Given the description of an element on the screen output the (x, y) to click on. 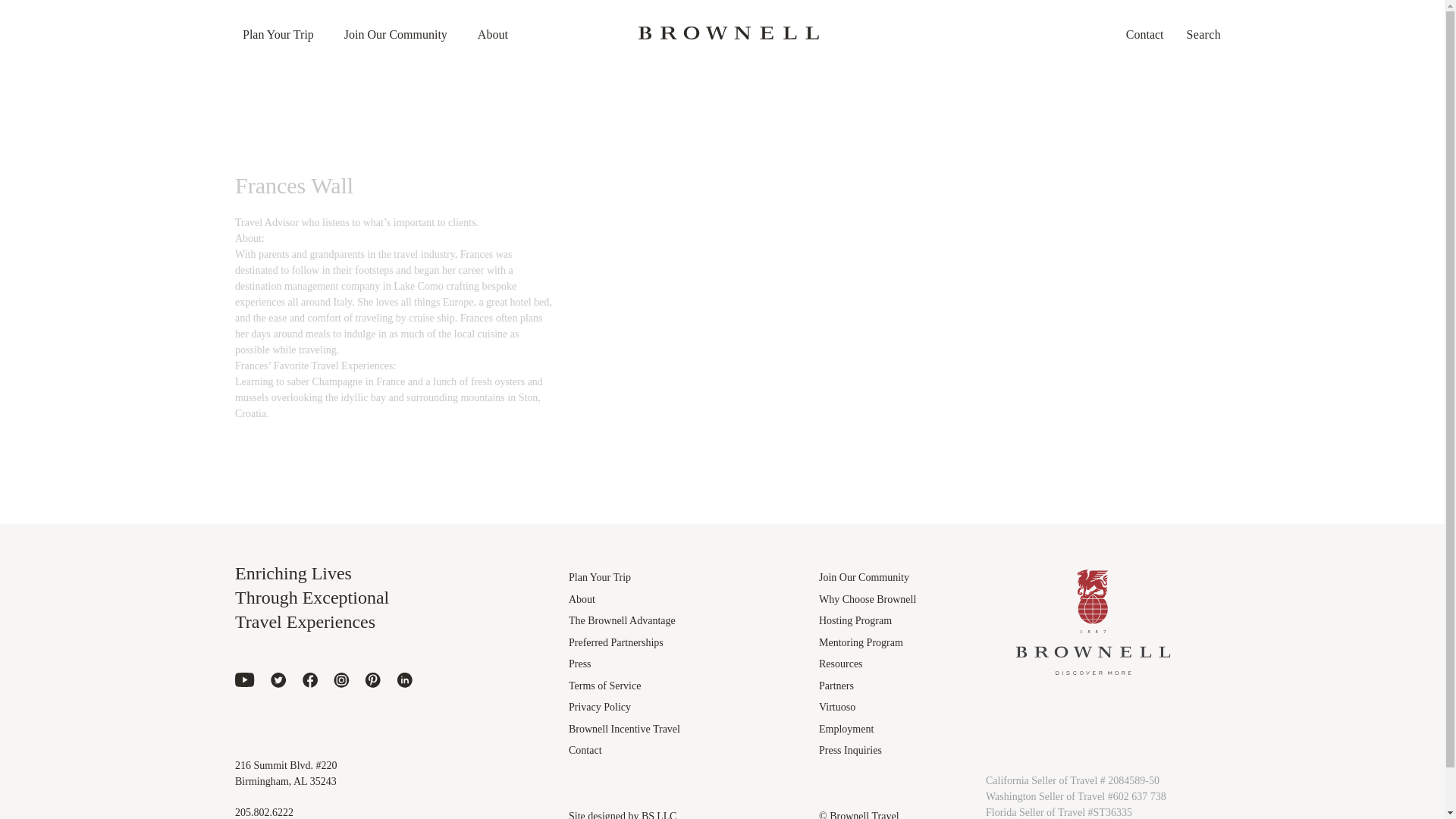
Contact (1145, 33)
Plan Your Trip (277, 33)
Search (1206, 45)
About (492, 33)
Join Our Community (395, 33)
